Given the description of an element on the screen output the (x, y) to click on. 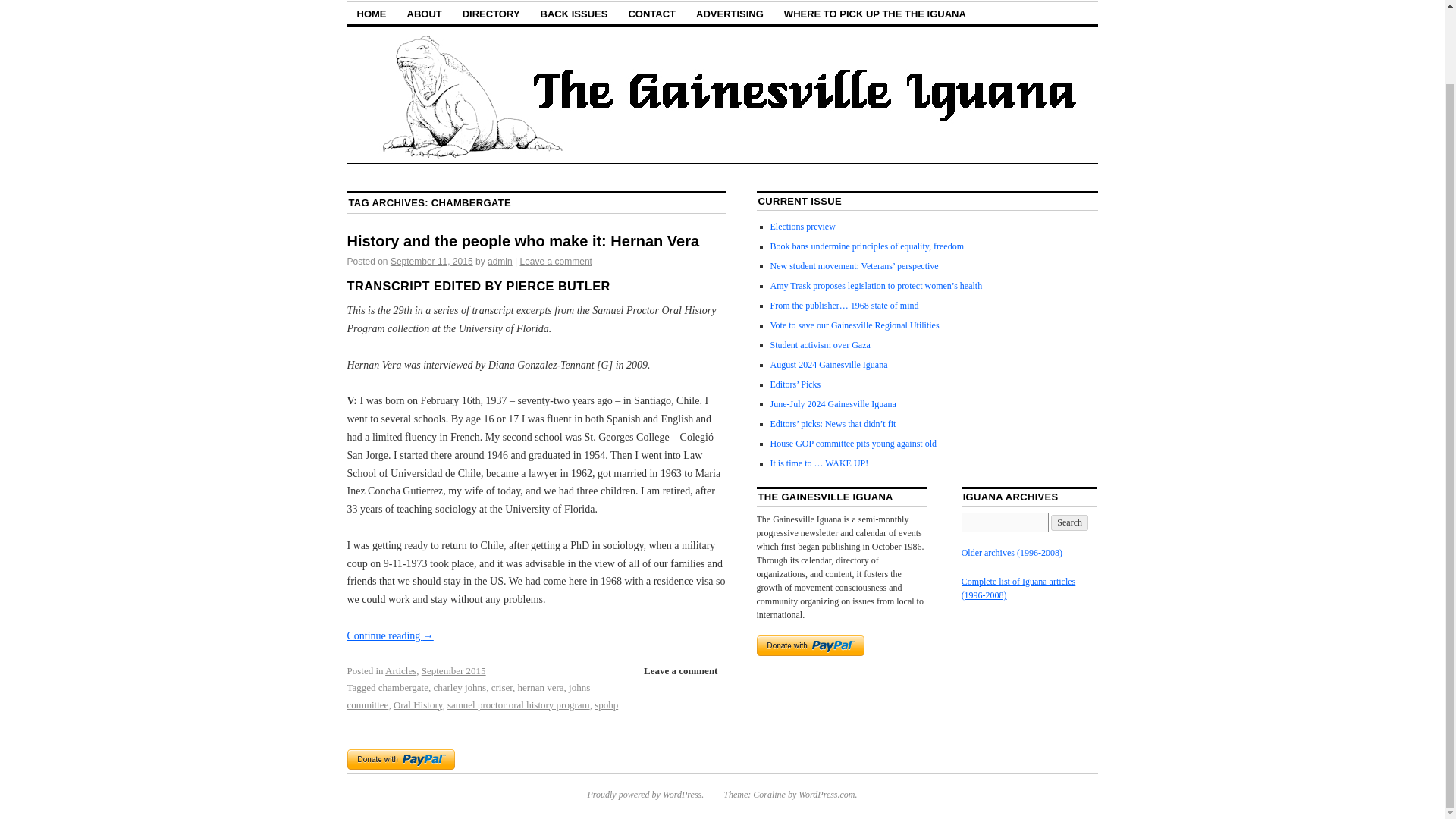
Student activism over Gaza (820, 344)
criser (502, 686)
Search (1069, 522)
House GOP committee pits young against old (853, 443)
View all posts by admin (499, 261)
Leave a comment (555, 261)
Vote to save our Gainesville Regional Utilities (854, 325)
charley johns (459, 686)
4:13 pm (431, 261)
Elections preview (802, 226)
hernan vera (541, 686)
September 11, 2015 (431, 261)
Oral History (417, 704)
HOME (371, 13)
chambergate (403, 686)
